Given the description of an element on the screen output the (x, y) to click on. 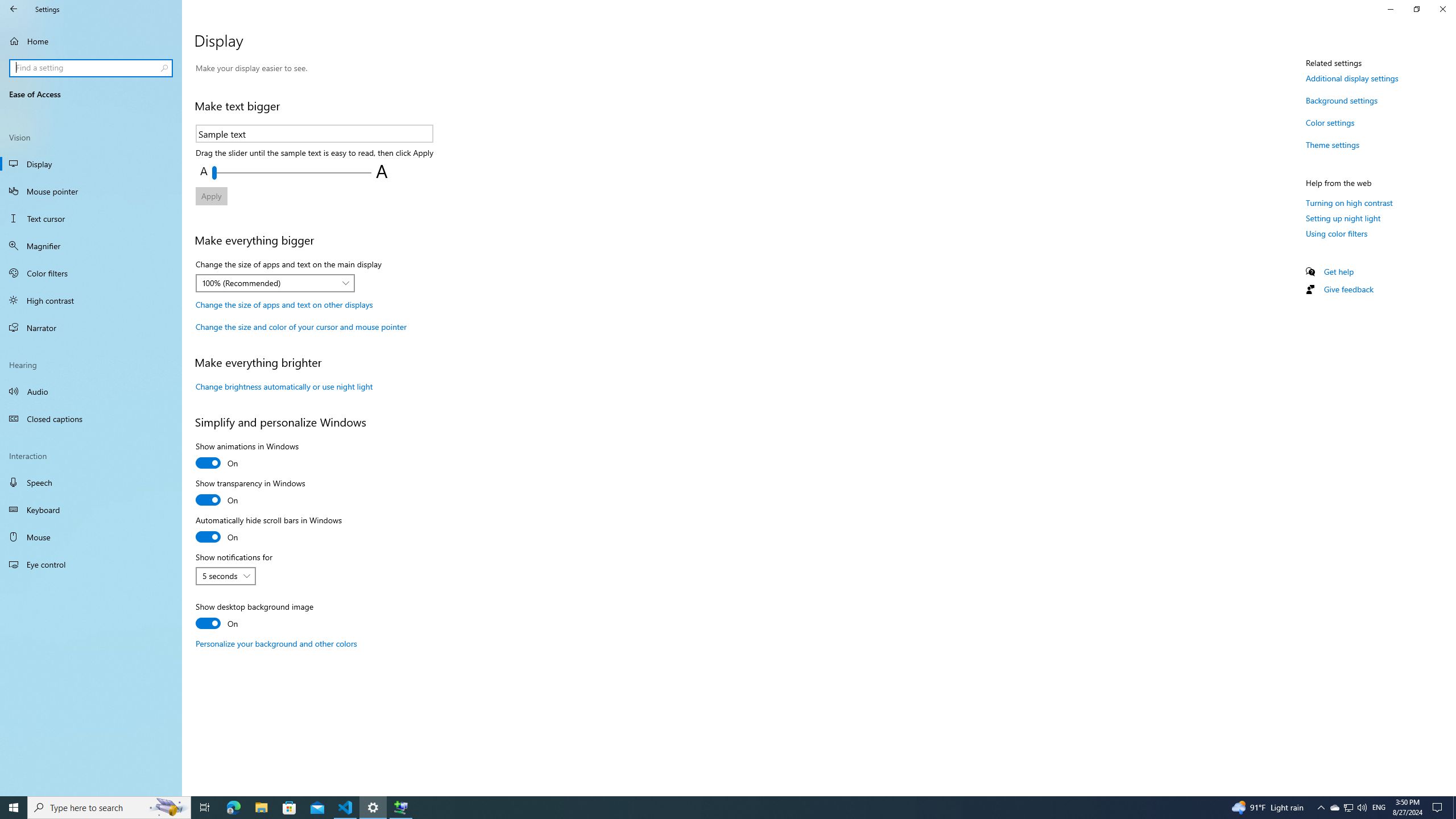
Theme settings (1332, 144)
Apply (211, 195)
Color settings (1330, 122)
Get help (1338, 271)
100% (Recommended) (269, 282)
Show transparency in Windows (250, 493)
Home (91, 40)
Additional display settings (1352, 77)
Give feedback (1348, 289)
Close Settings (1442, 9)
Automatically hide scroll bars in Windows (268, 530)
Speech (91, 482)
